Given the description of an element on the screen output the (x, y) to click on. 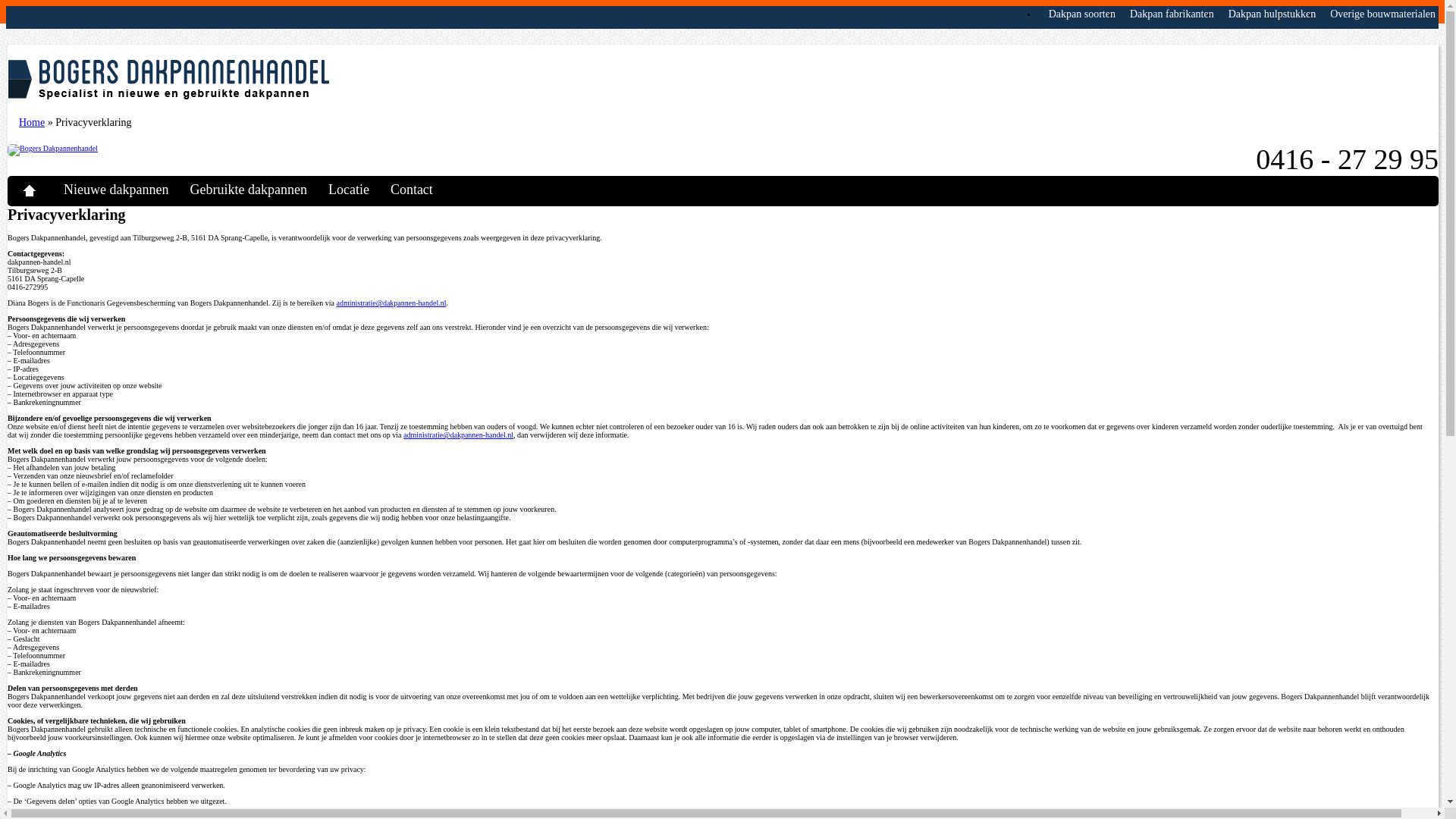
Overige bouwmaterialen Element type: text (1376, 14)
Nieuwe dakpannen Element type: text (124, 189)
Locatie Element type: text (357, 189)
Gebruikte dakpannen Element type: text (256, 189)
Dakpan soorten Element type: text (1076, 14)
Bogers Dakpannenhandel Element type: hover (168, 79)
Contact Element type: text (420, 189)
administratie@dakpannen-handel.nl Element type: text (458, 434)
dakpannen specialist | Bogers Dakpannenhandel Element type: text (37, 190)
Dakpan fabrikanten Element type: text (1166, 14)
Bogers Dakpannenhandel Element type: hover (52, 150)
administratie@dakpannen-handel.nl Element type: text (391, 302)
Home Element type: text (31, 122)
Dakpan hulpstukken Element type: text (1266, 14)
